Given the description of an element on the screen output the (x, y) to click on. 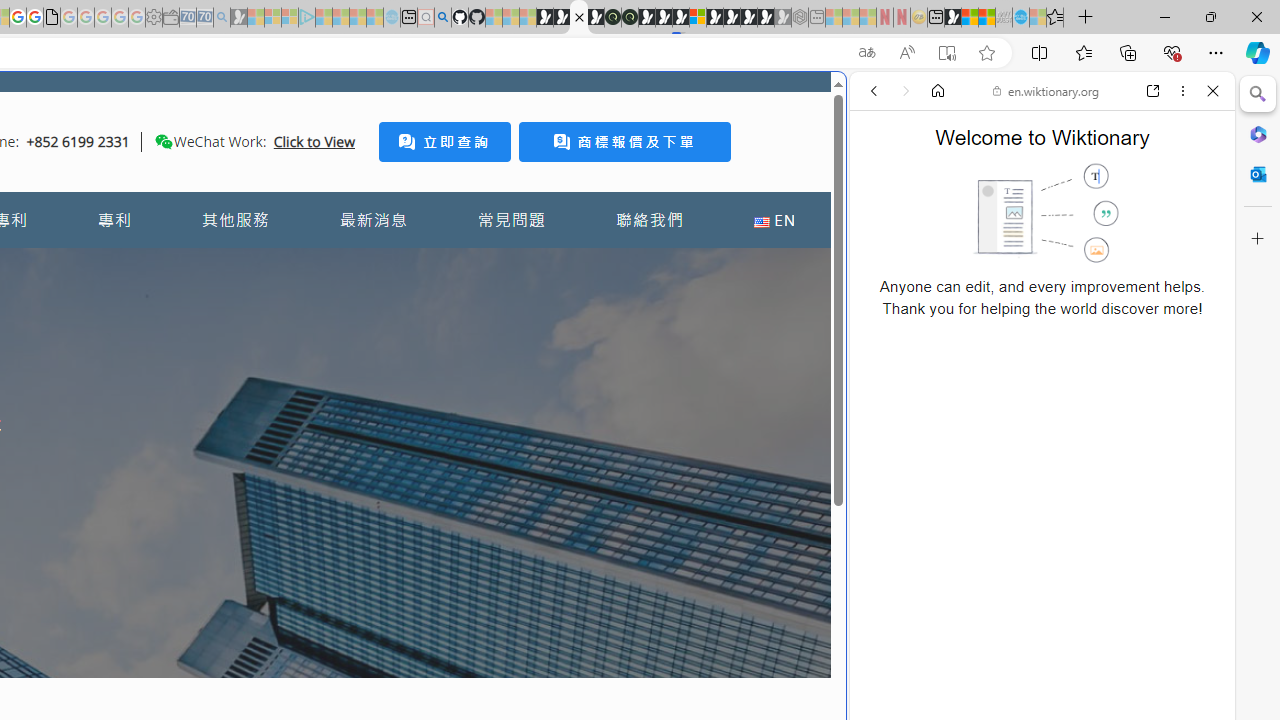
Home | Sky Blue Bikes - Sky Blue Bikes (687, 426)
Microsoft Start Gaming - Sleeping (238, 17)
Preferences (1189, 228)
Bing Real Estate - Home sales and rental listings - Sleeping (221, 17)
Play Zoo Boom in your browser | Games from Microsoft Start (561, 17)
Search Filter, WEB (882, 228)
New tab - Sleeping (817, 17)
